Given the description of an element on the screen output the (x, y) to click on. 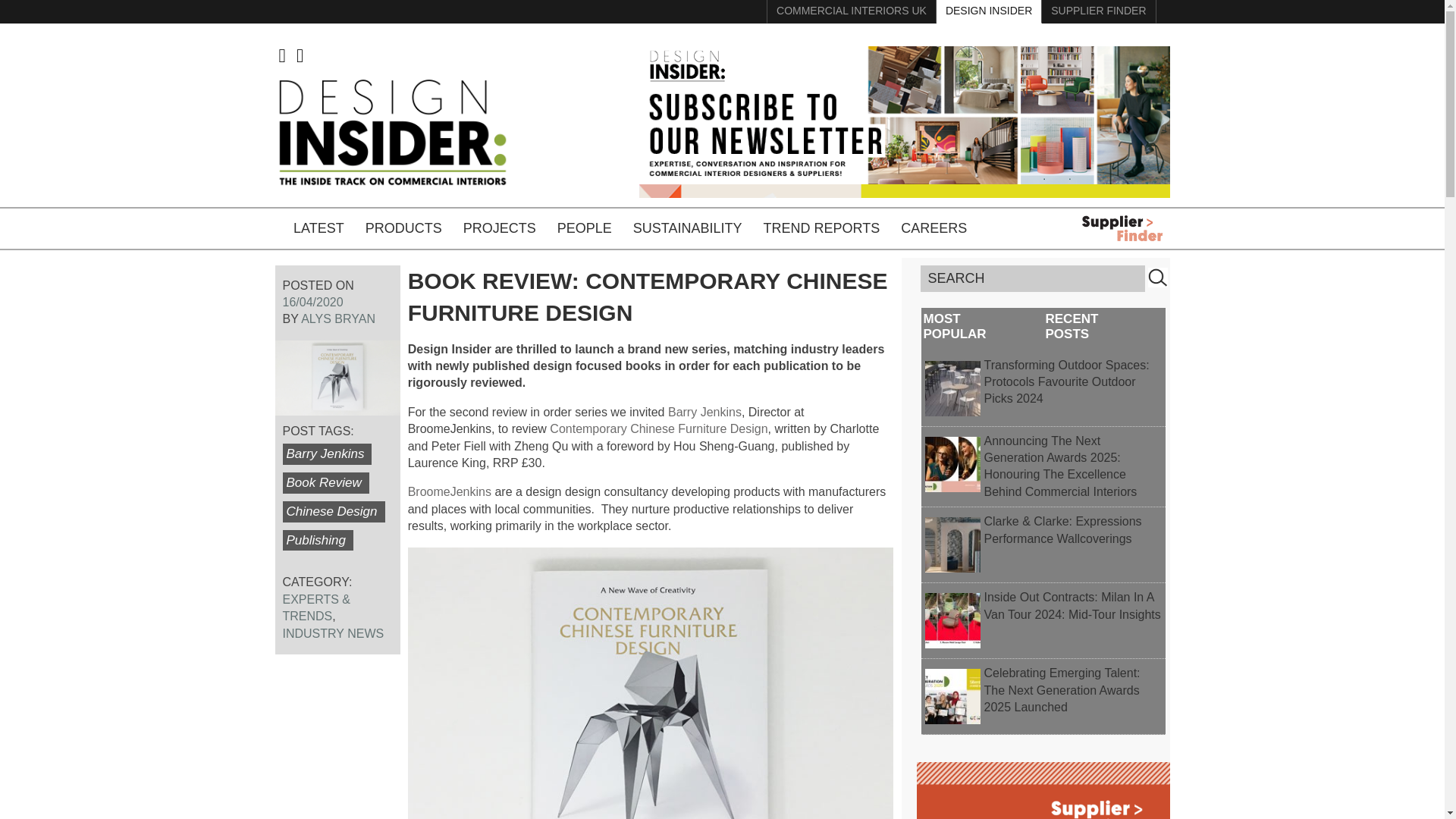
Book Review: Contemporary Chinese Furniture Design (647, 296)
ALYS BRYAN (338, 318)
Barry Jenkins (704, 411)
SUPPLIER FINDER (1099, 11)
Contemporary Chinese Furniture Design (658, 428)
Book Review (325, 482)
CAREERS (932, 228)
BroomeJenkins (449, 491)
Posts by Alys Bryan (338, 318)
DESIGN INSIDER (989, 11)
